Given the description of an element on the screen output the (x, y) to click on. 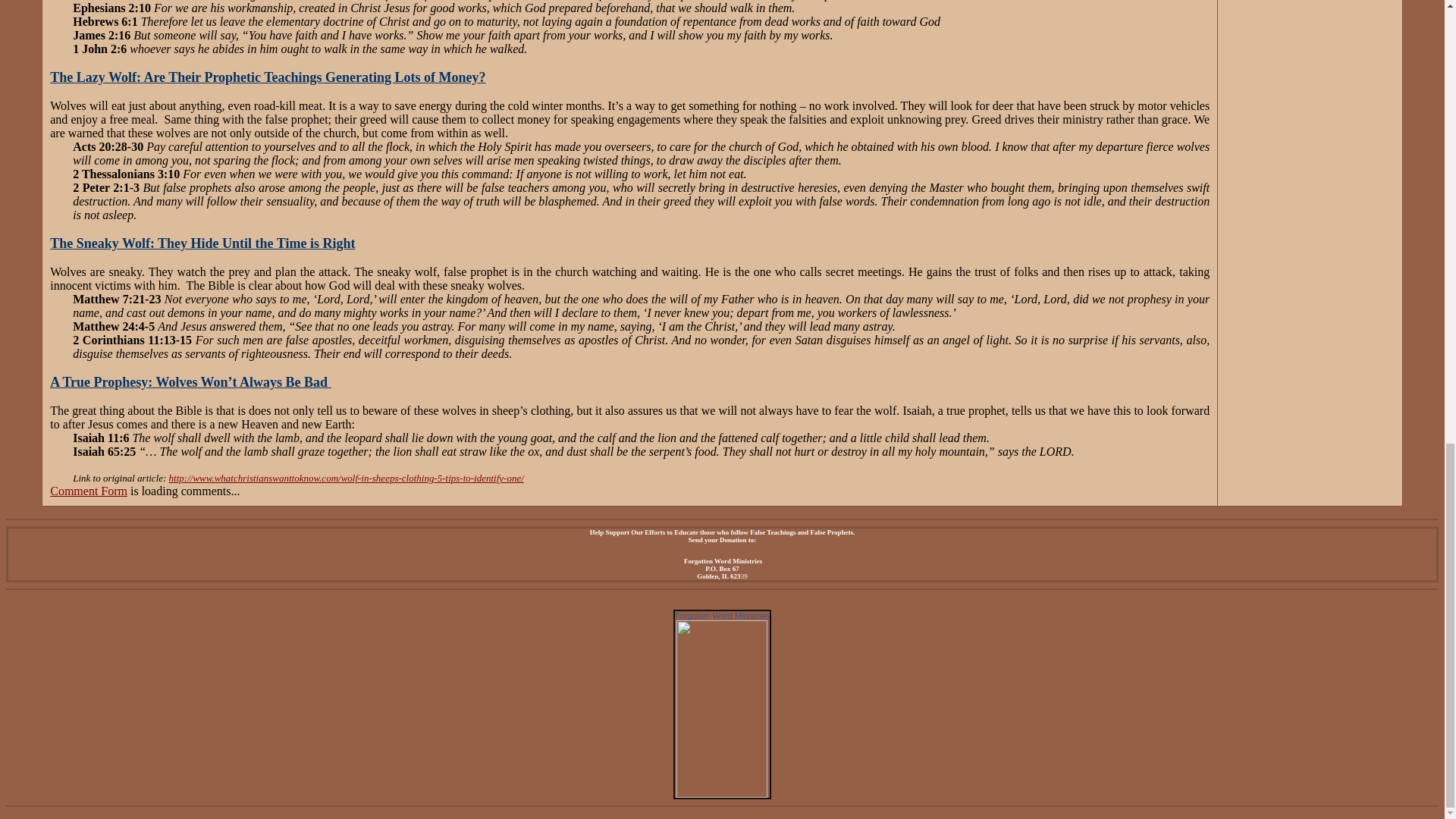
Comment Form (88, 490)
Forgotten Word Ministries (722, 792)
Forgotten Word Ministries (722, 614)
Forgotten Word Ministries (722, 614)
